Given the description of an element on the screen output the (x, y) to click on. 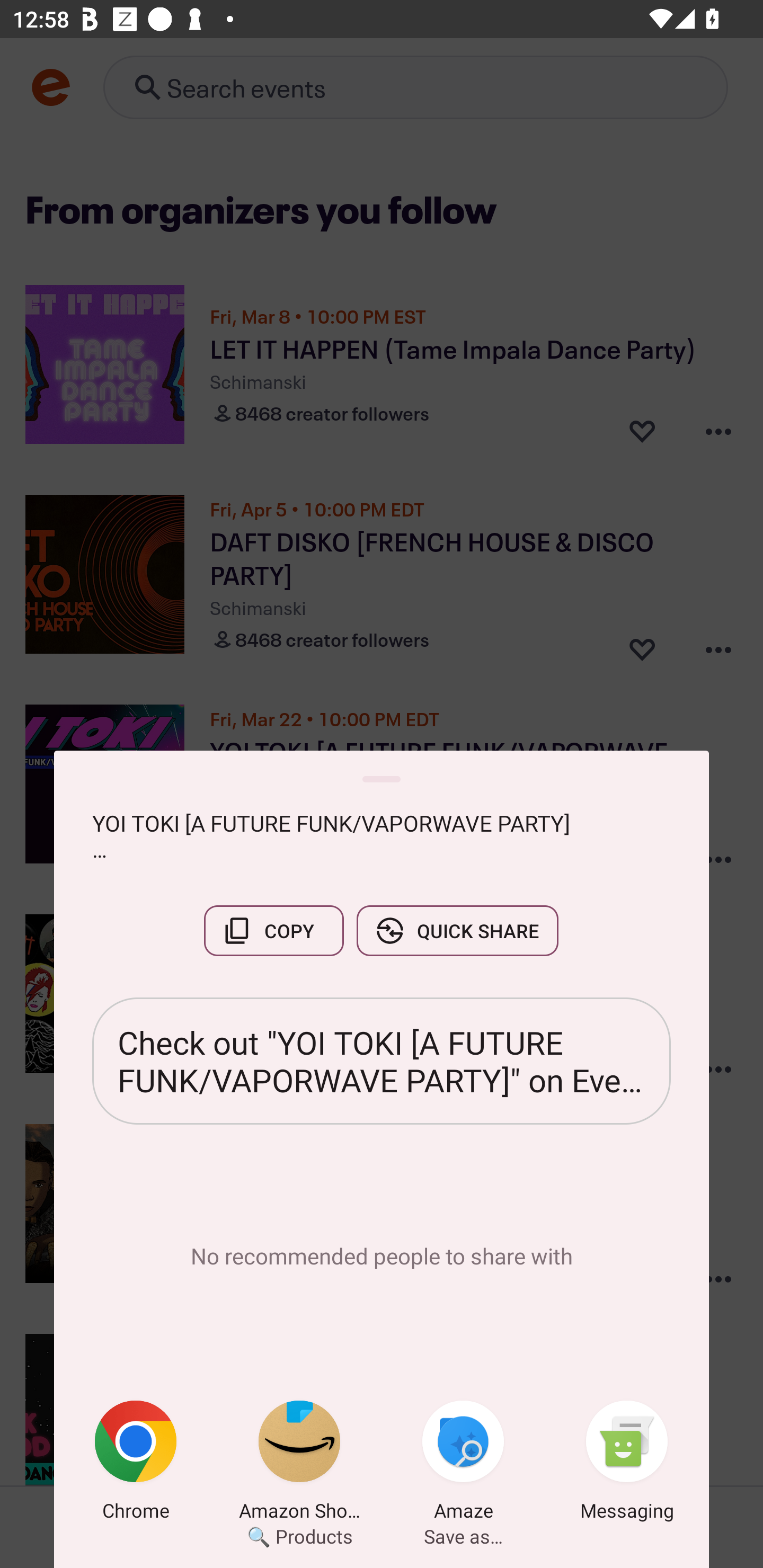
COPY (273, 930)
QUICK SHARE (457, 930)
Chrome (135, 1463)
Amazon Shopping 🔍 Products (299, 1463)
Amaze Save as… (463, 1463)
Messaging (626, 1463)
